Given the description of an element on the screen output the (x, y) to click on. 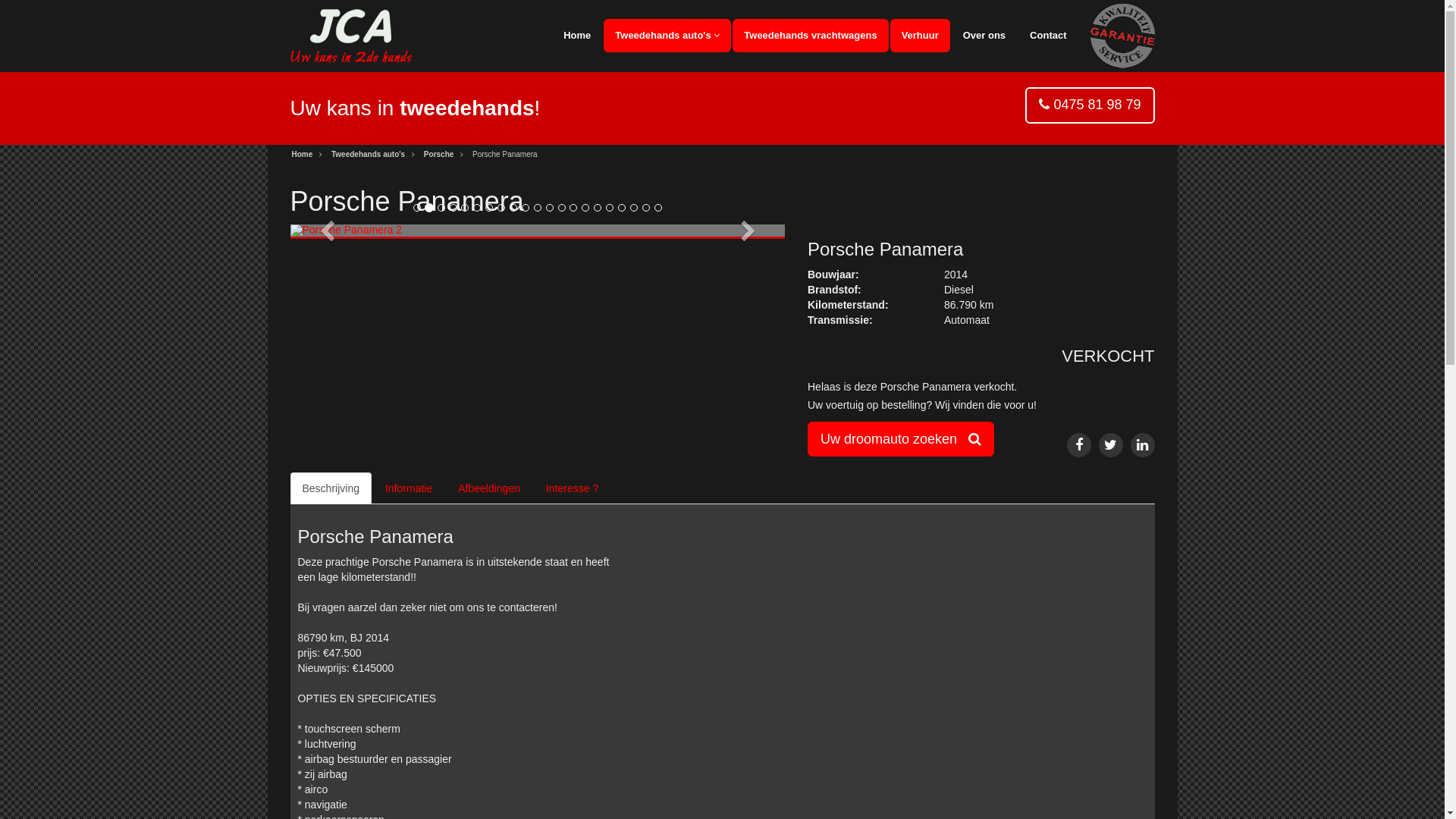
Uw droomauto zoeken   Element type: text (900, 438)
0475 81 98 79 Element type: text (1096, 104)
Porsche Element type: text (438, 154)
Afbeeldingen Element type: text (488, 488)
Over ons Element type: text (983, 35)
Volgende Element type: text (747, 231)
Tweedehands vrachtwagens Element type: text (810, 35)
Interesse ? Element type: text (571, 488)
Verhuur Element type: text (920, 35)
Vorige Element type: text (326, 231)
Home Element type: text (577, 35)
Tweedehands auto's Element type: text (367, 154)
JCA Autoservice Element type: text (350, 35)
Contact Element type: text (1047, 35)
Home Element type: text (301, 154)
Informatie Element type: text (408, 488)
Beschrijving Element type: text (329, 488)
Tweedehands auto's Element type: text (667, 35)
